Given the description of an element on the screen output the (x, y) to click on. 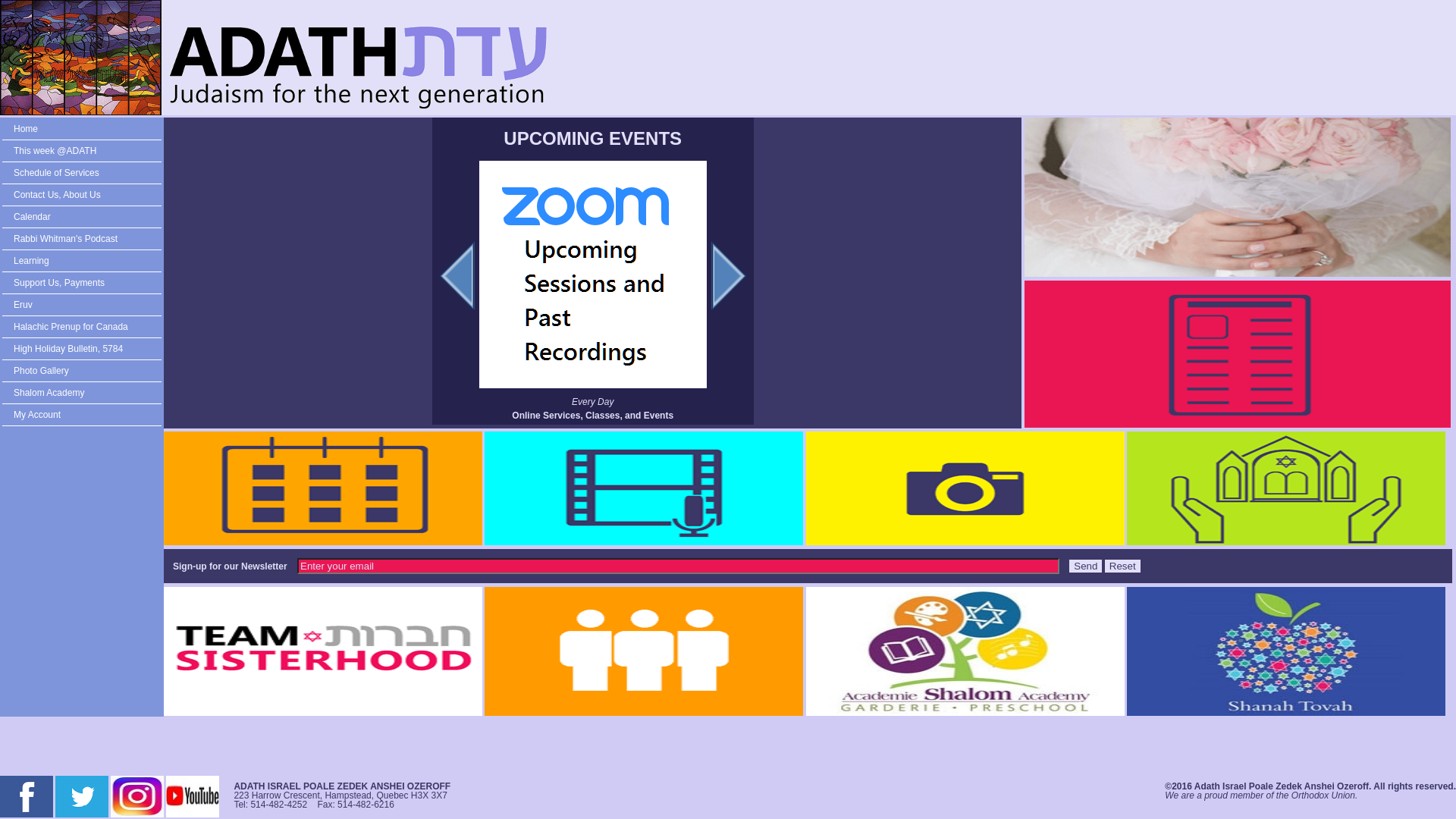
Shalom Academy Element type: text (75, 775)
Rabbi Whitman's CV Element type: text (114, 247)
Holiday Reading Booklets Element type: text (126, 557)
Rabbi Whitman's Dvar Torah Element type: text (133, 539)
All Weekly Classes Element type: text (109, 375)
Directions Element type: text (87, 266)
Photo Gallery Element type: text (66, 757)
Donations Element type: text (87, 648)
Jewish Classes Element type: text (98, 393)
My Account Element type: text (62, 793)
Contact Us, About Us Element type: text (85, 193)
Schedule of Services Element type: text (83, 175)
Prayer Schedule Element type: text (101, 357)
Sponsoring Opportunities Element type: text (125, 666)
Women's Bat Mitzvah 5776 Element type: text (129, 611)
Our Team Element type: text (86, 229)
Monthly Calendar Element type: text (106, 338)
Support Us, Payments Element type: text (86, 630)
This week @ADATH      Element type: text (92, 156)
Music of ADATH Element type: text (106, 575)
Rabbi Whitman's Classes, Shiurim Element type: text (125, 493)
Membership Element type: text (93, 684)
Eruv                                     Element type: text (98, 702)
Upcoming Events Element type: text (106, 320)
Useful Links Element type: text (93, 593)
High Holiday Bulletin, 5784 Element type: text (101, 739)
Learning Element type: text (54, 466)
Home                                     Element type: text (101, 138)
Jewish Holidays Element type: text (102, 429)
Rabbi Whitman's Podcast Element type: text (94, 448)
Leisure Classes Element type: text (100, 411)
Halachic Prenup for Canada Element type: text (100, 721)
Our History Element type: text (91, 284)
Jewish Classes Element type: text (98, 520)
Contact Us Element type: text (89, 211)
Calendar Element type: text (54, 302)
